Given the description of an element on the screen output the (x, y) to click on. 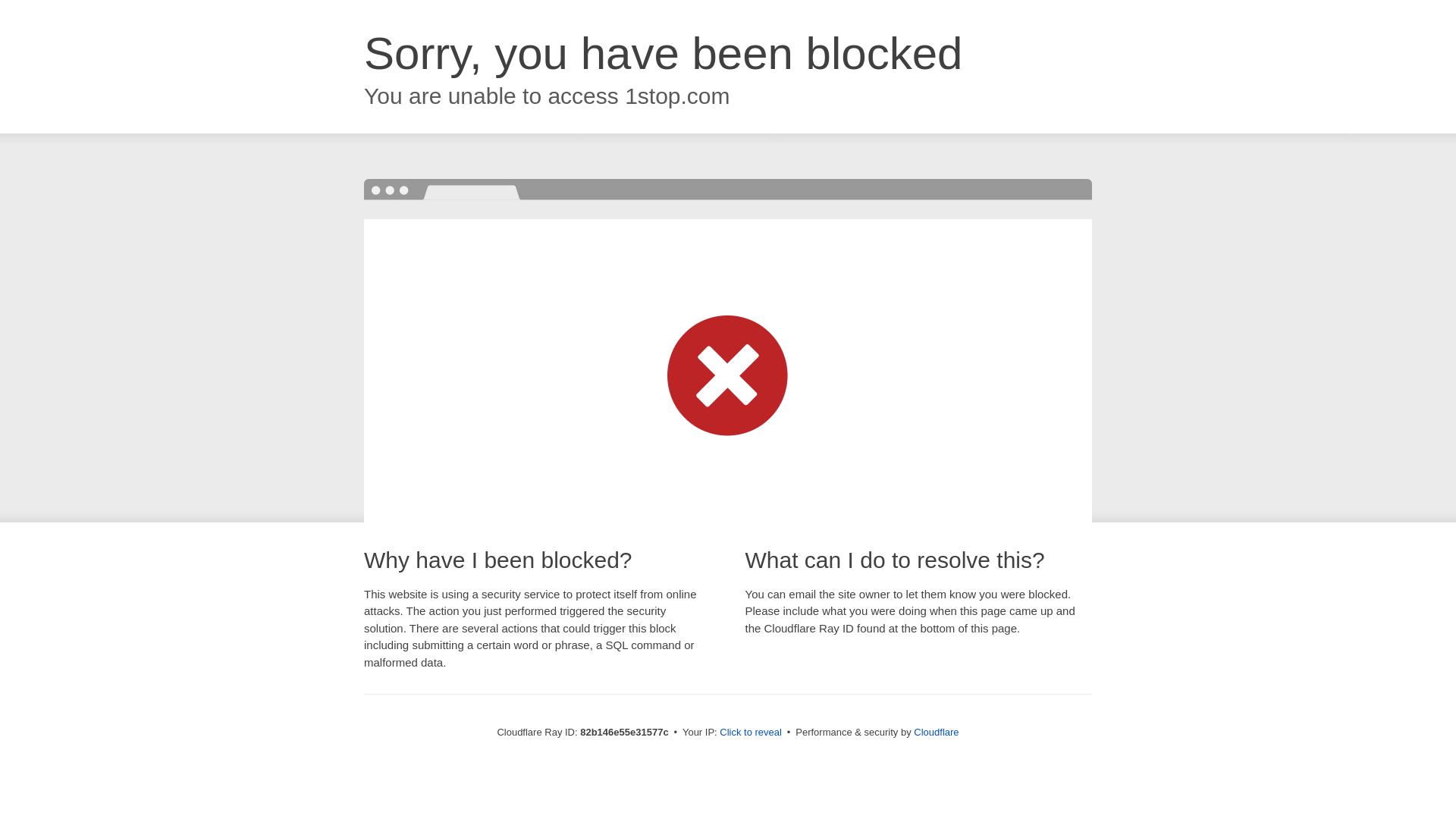
Cloudflare Element type: text (935, 731)
Click to reveal Element type: text (750, 732)
